Given the description of an element on the screen output the (x, y) to click on. 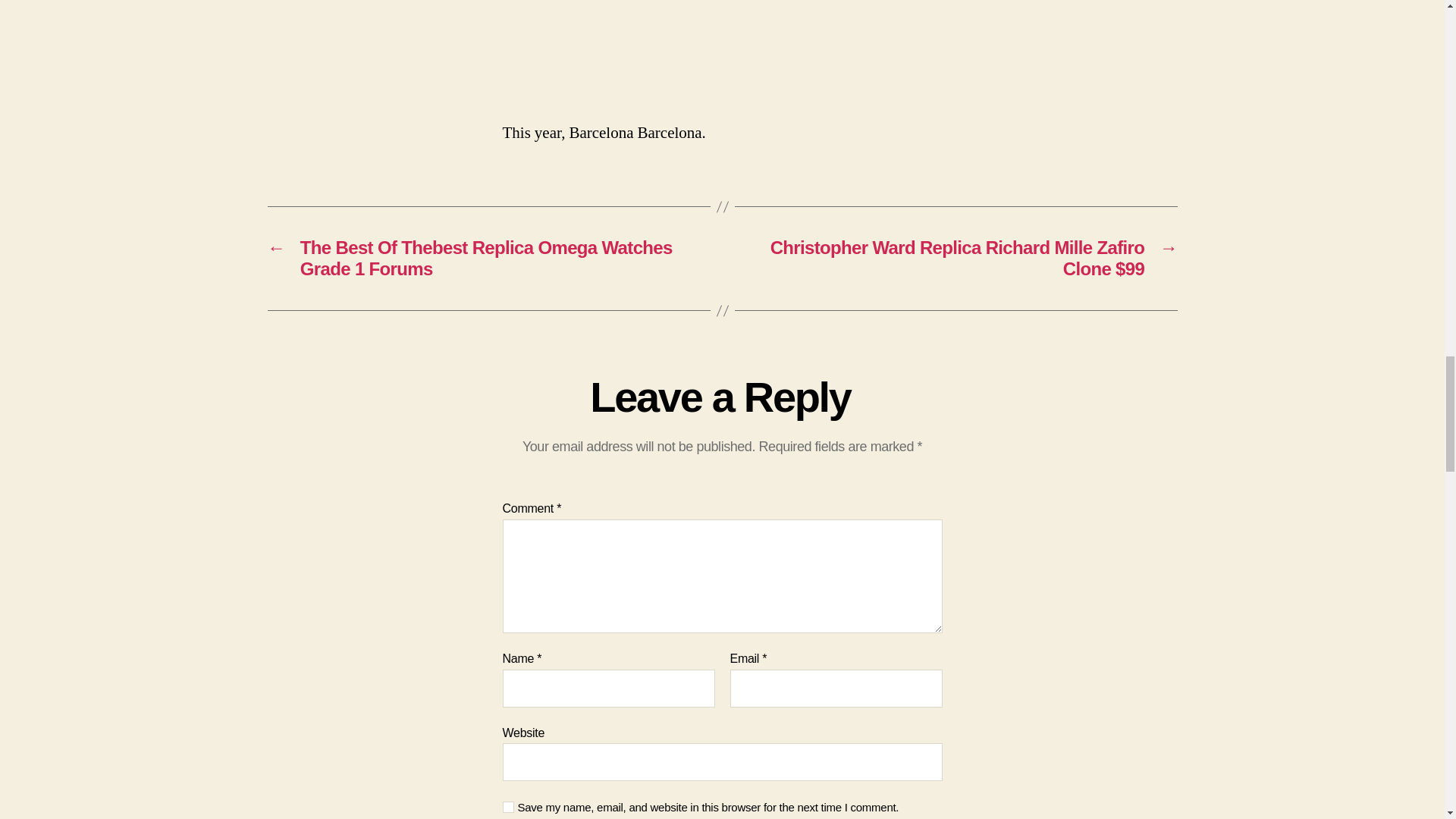
yes (507, 807)
